Given the description of an element on the screen output the (x, y) to click on. 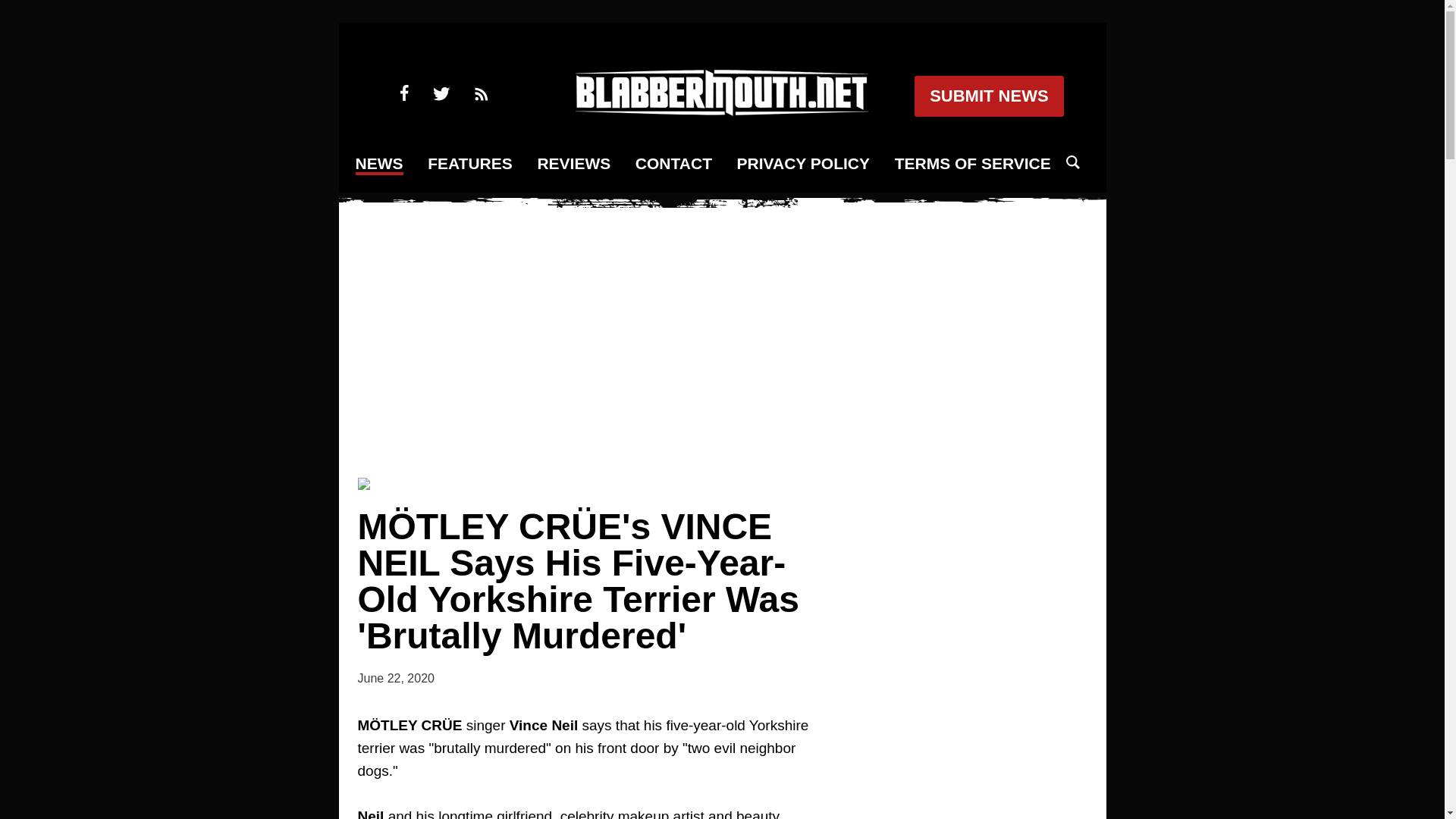
search icon (1072, 161)
FEATURES (470, 163)
TERMS OF SERVICE (973, 163)
NEWS (379, 164)
REVIEWS (573, 163)
SUBMIT NEWS (988, 96)
blabbermouth (721, 110)
CONTACT (672, 163)
PRIVACY POLICY (802, 163)
